Given the description of an element on the screen output the (x, y) to click on. 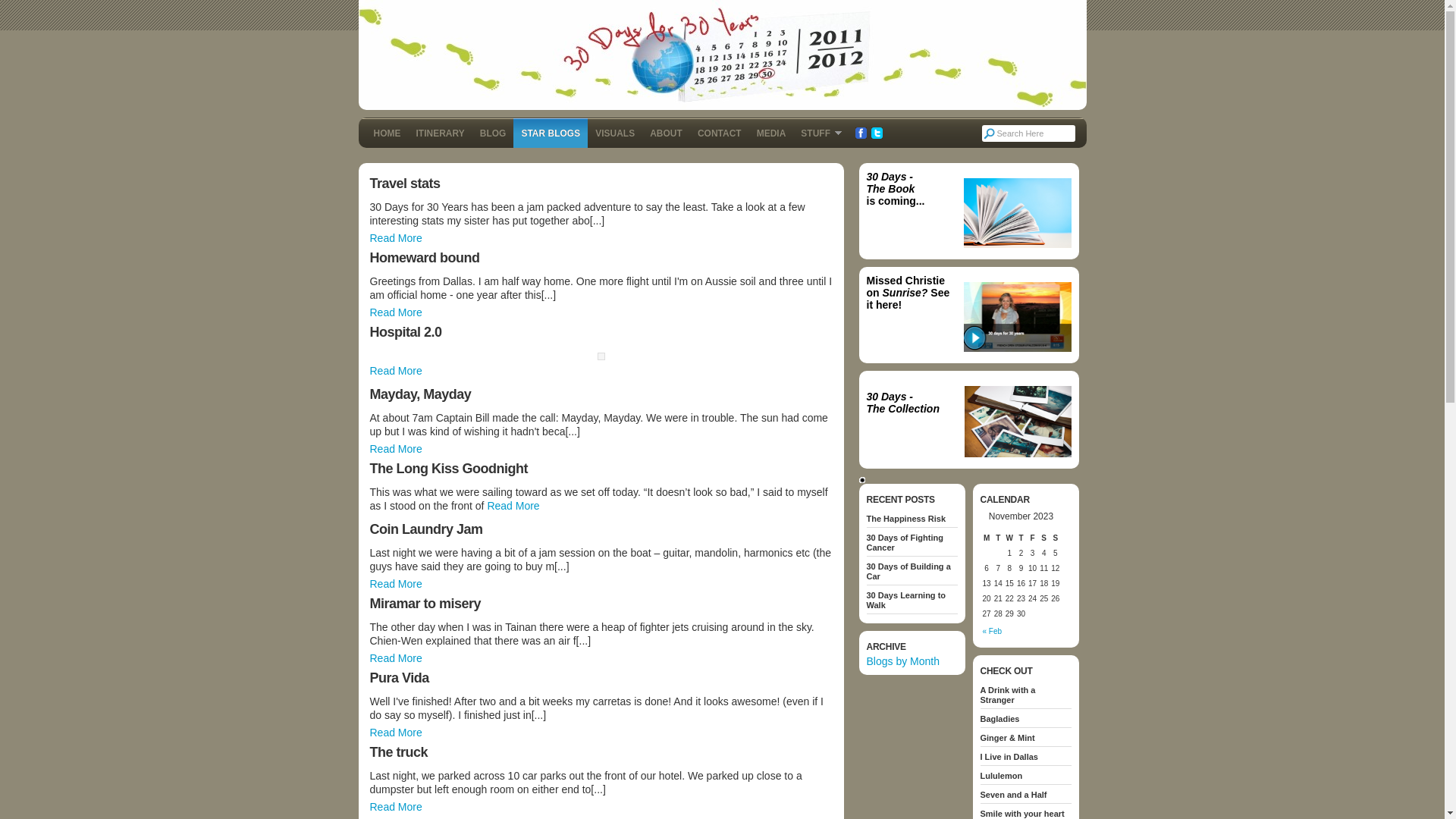
Bagladies Element type: text (1024, 719)
Question300x199 Element type: hover (1016, 316)
Read More Element type: text (396, 238)
ITINERARY Element type: text (439, 132)
MEDIA Element type: text (771, 132)
Read More Element type: text (396, 806)
Facebook Element type: hover (861, 132)
Question300x199 Element type: hover (1017, 421)
30 Days Learning to Walk Element type: text (911, 600)
ABOUT Element type: text (666, 132)
Missed Christie on Sunrise? See it here! Element type: text (907, 292)
Read More Element type: text (396, 312)
Seven and a Half Element type: text (1024, 794)
Read More Element type: text (396, 732)
30 Days of Fighting Cancer Element type: text (911, 542)
HOME Element type: text (386, 132)
30 Days -
The Book
is coming... Element type: text (895, 188)
The Happiness Risk Element type: text (911, 518)
CONTACT Element type: text (719, 132)
Lululemon Element type: text (1024, 775)
Read More Element type: text (396, 448)
Question300x199 Element type: hover (1016, 212)
A Drink with a Stranger Element type: text (1024, 695)
Read More Element type: text (396, 583)
30 Days -
The Collection Element type: text (902, 408)
I Live in Dallas Element type: text (1024, 756)
30 Days of Building a Car Element type: text (911, 571)
Read More Element type: text (512, 505)
30days30years Element type: text (721, 54)
Twitter Element type: hover (876, 132)
VISUALS Element type: text (614, 132)
Read More Element type: text (396, 658)
Blogs by Month Element type: text (902, 661)
Ginger & Mint Element type: text (1024, 737)
Read More Element type: text (396, 370)
STAR BLOGS Element type: text (550, 132)
BLOG Element type: text (493, 132)
